Given the description of an element on the screen output the (x, y) to click on. 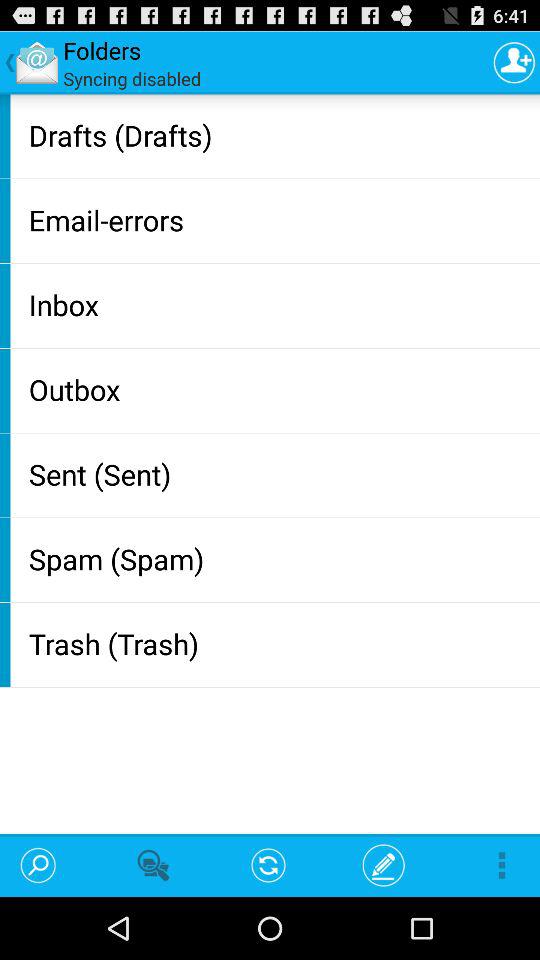
tap the app above email-errors item (280, 134)
